Given the description of an element on the screen output the (x, y) to click on. 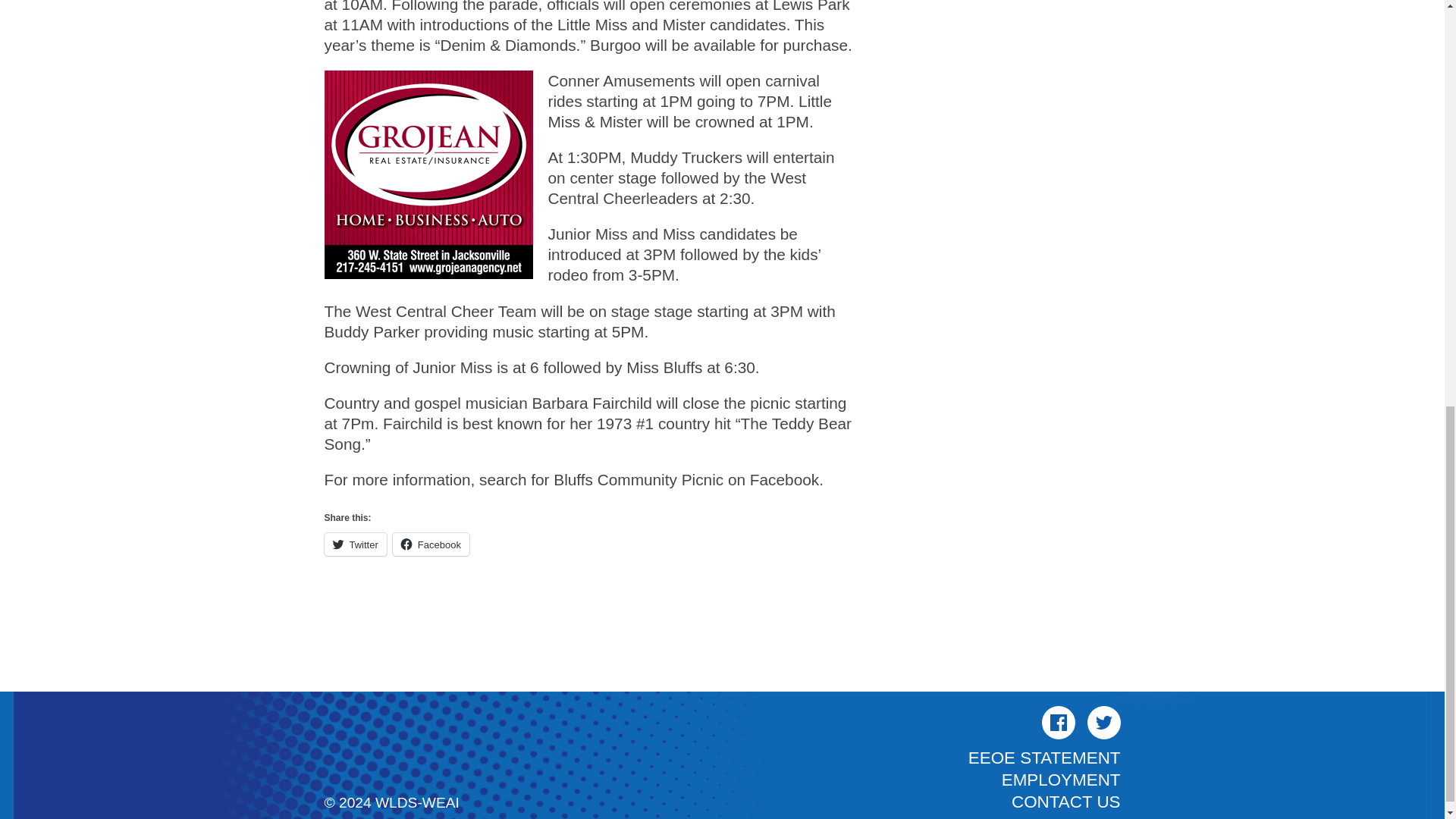
Facebook (1058, 722)
CONTACT US (1065, 801)
Click to share on Facebook (430, 544)
Twitter (1104, 722)
Twitter (355, 544)
EEOE STATEMENT (1044, 757)
Click to share on Twitter (355, 544)
EMPLOYMENT (1061, 779)
Facebook (430, 544)
